Given the description of an element on the screen output the (x, y) to click on. 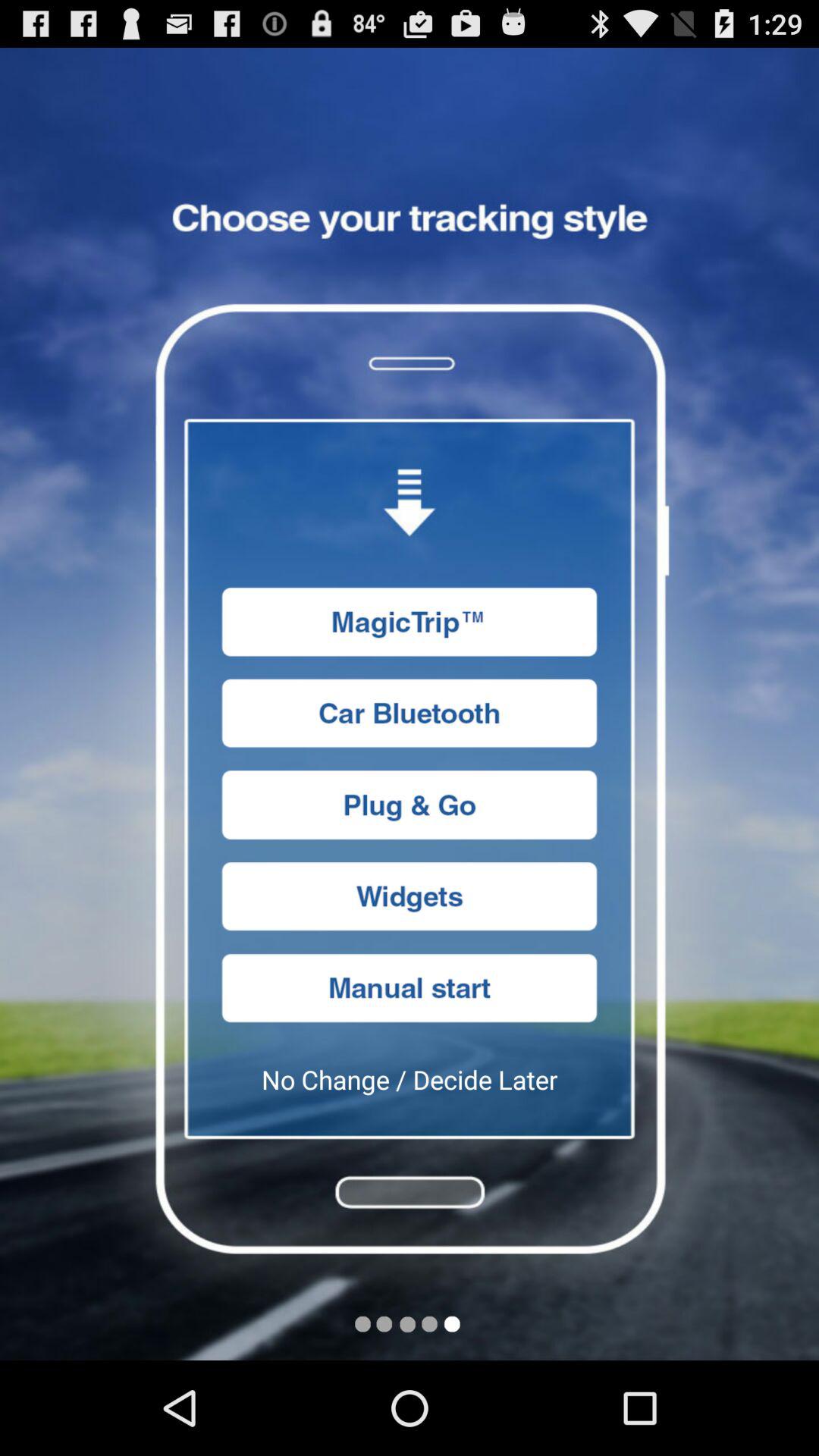
connect the car by bluetooth (409, 713)
